Given the description of an element on the screen output the (x, y) to click on. 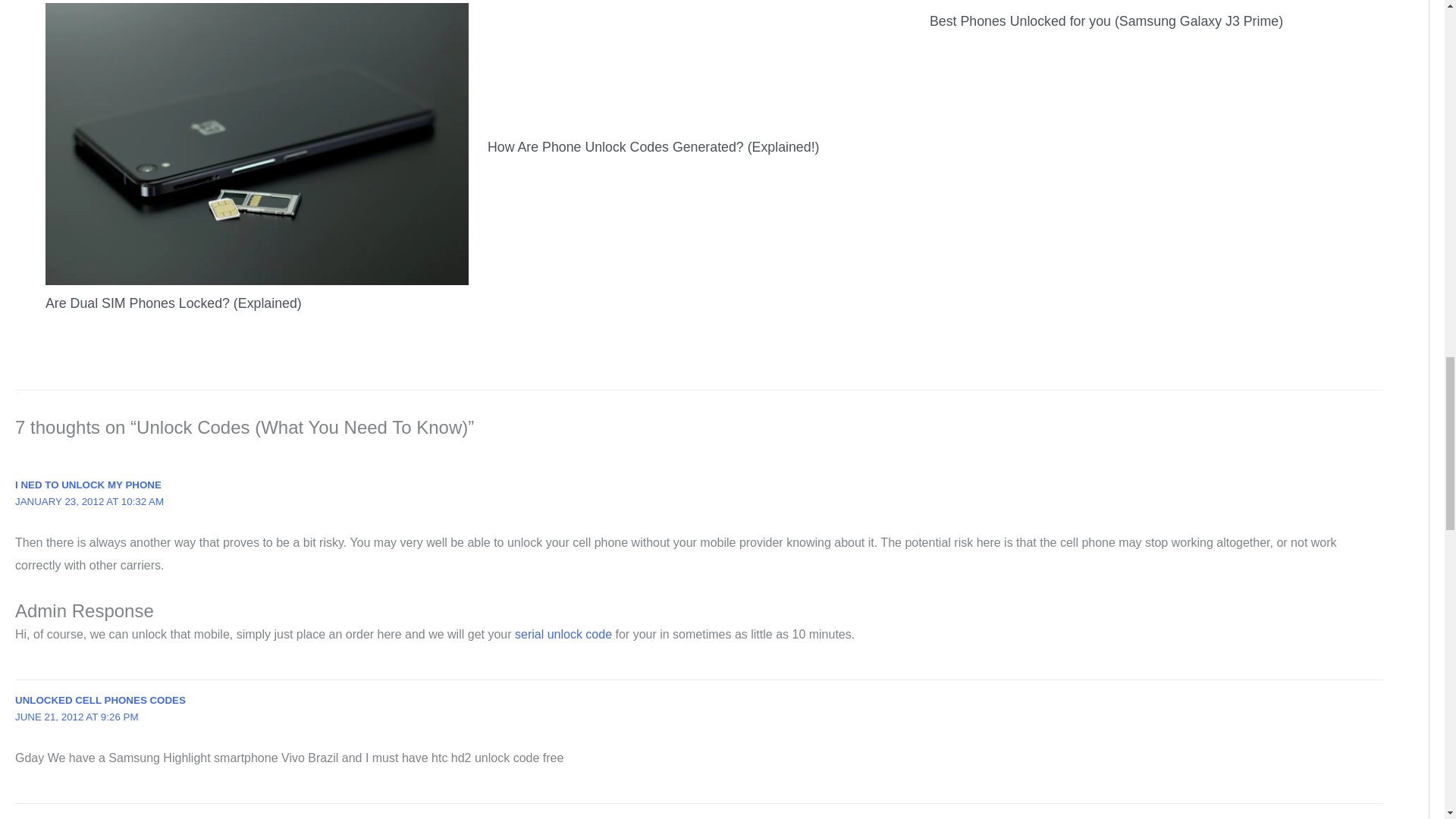
JUNE 21, 2012 AT 9:26 PM (76, 716)
I NED TO UNLOCK MY PHONE (87, 484)
JANUARY 23, 2012 AT 10:32 AM (88, 501)
serial unlock code (563, 634)
UNLOCKED CELL PHONES CODES (100, 699)
